Given the description of an element on the screen output the (x, y) to click on. 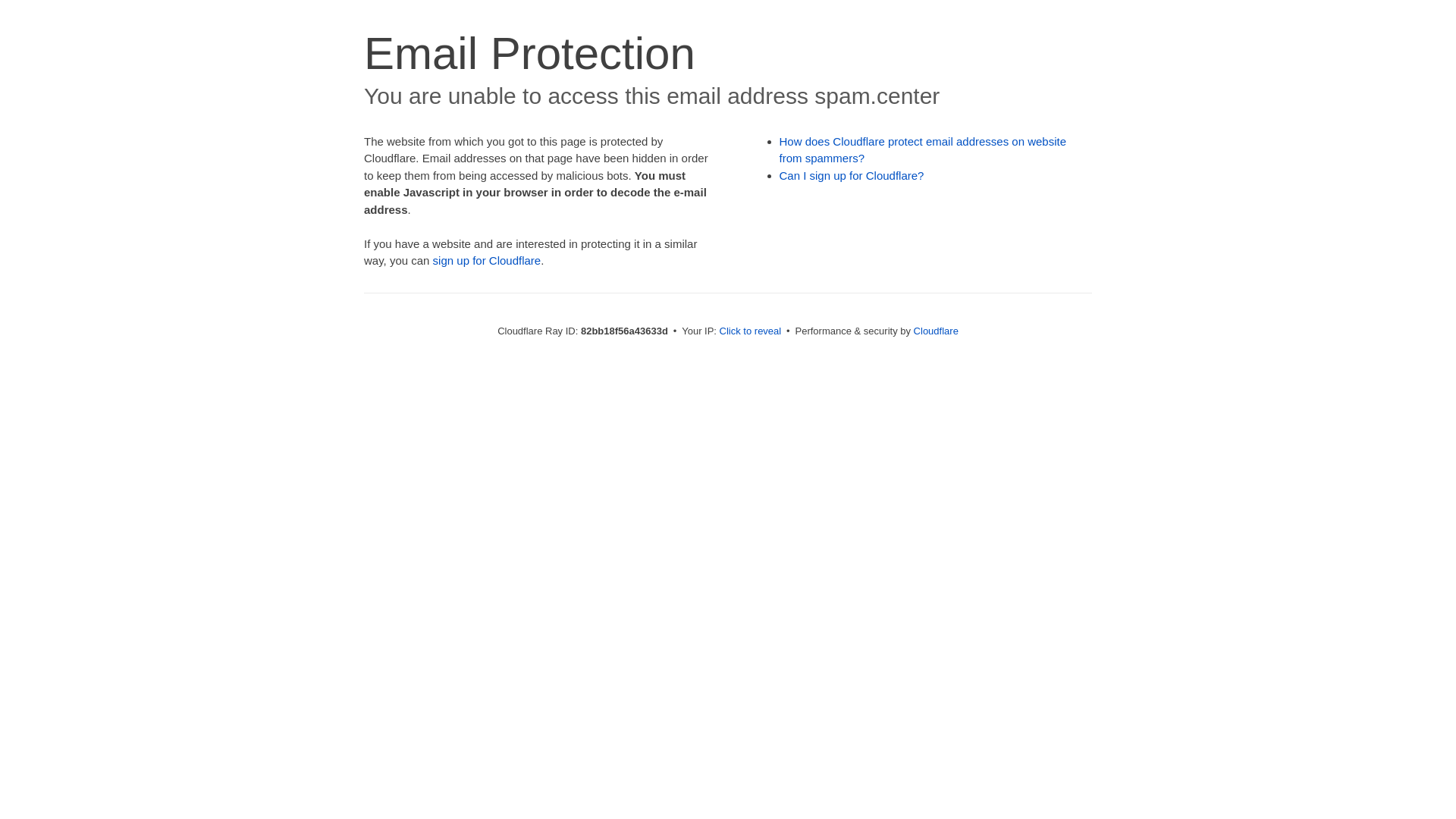
Can I sign up for Cloudflare? Element type: text (851, 175)
Click to reveal Element type: text (750, 330)
Cloudflare Element type: text (935, 330)
sign up for Cloudflare Element type: text (487, 260)
